Given the description of an element on the screen output the (x, y) to click on. 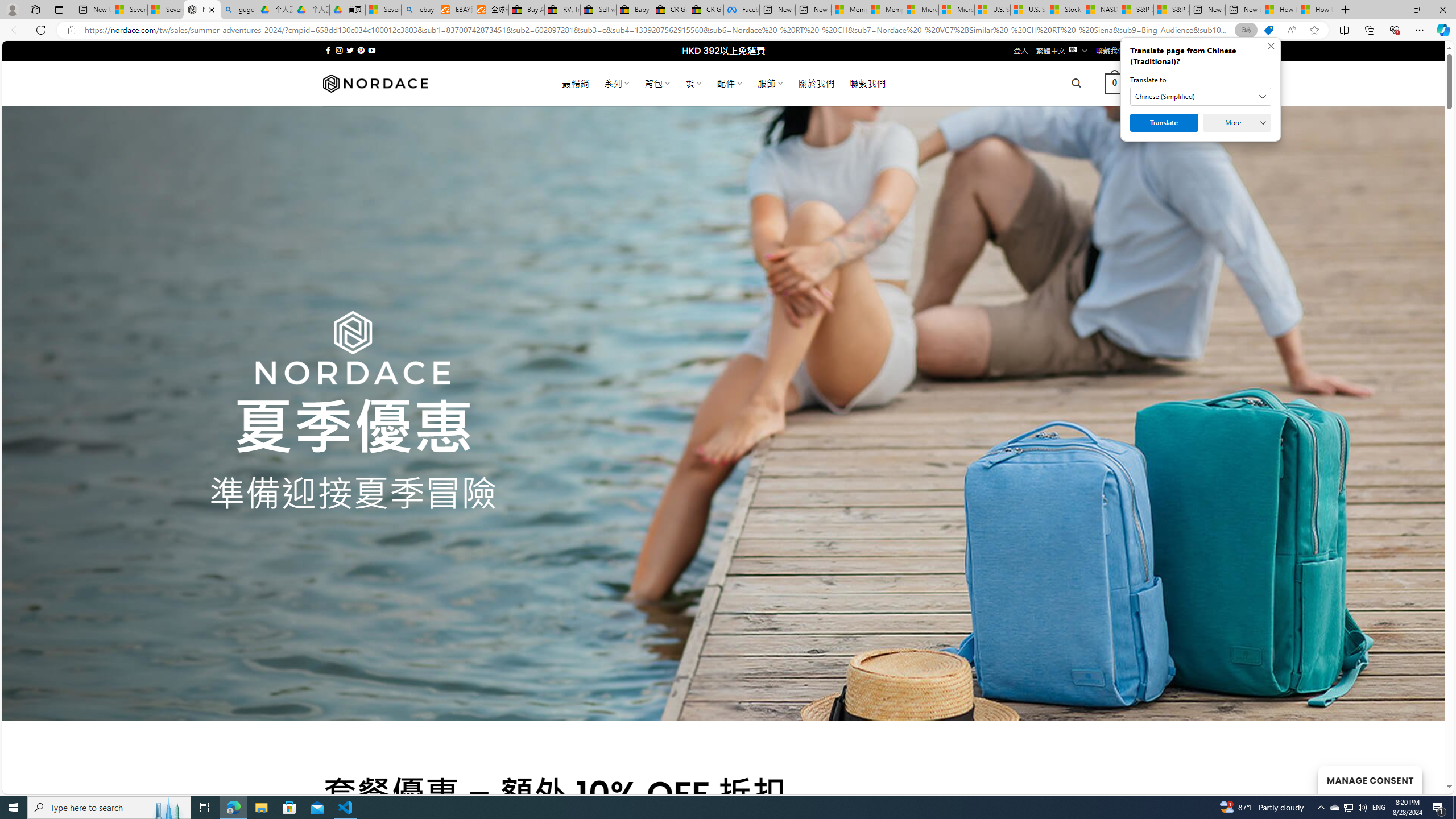
Facebook (741, 9)
Read aloud this page (Ctrl+Shift+U) (1291, 29)
New Tab (1346, 9)
Copilot (Ctrl+Shift+.) (1442, 29)
Settings and more (Alt+F) (1419, 29)
Close tab (211, 9)
